Given the description of an element on the screen output the (x, y) to click on. 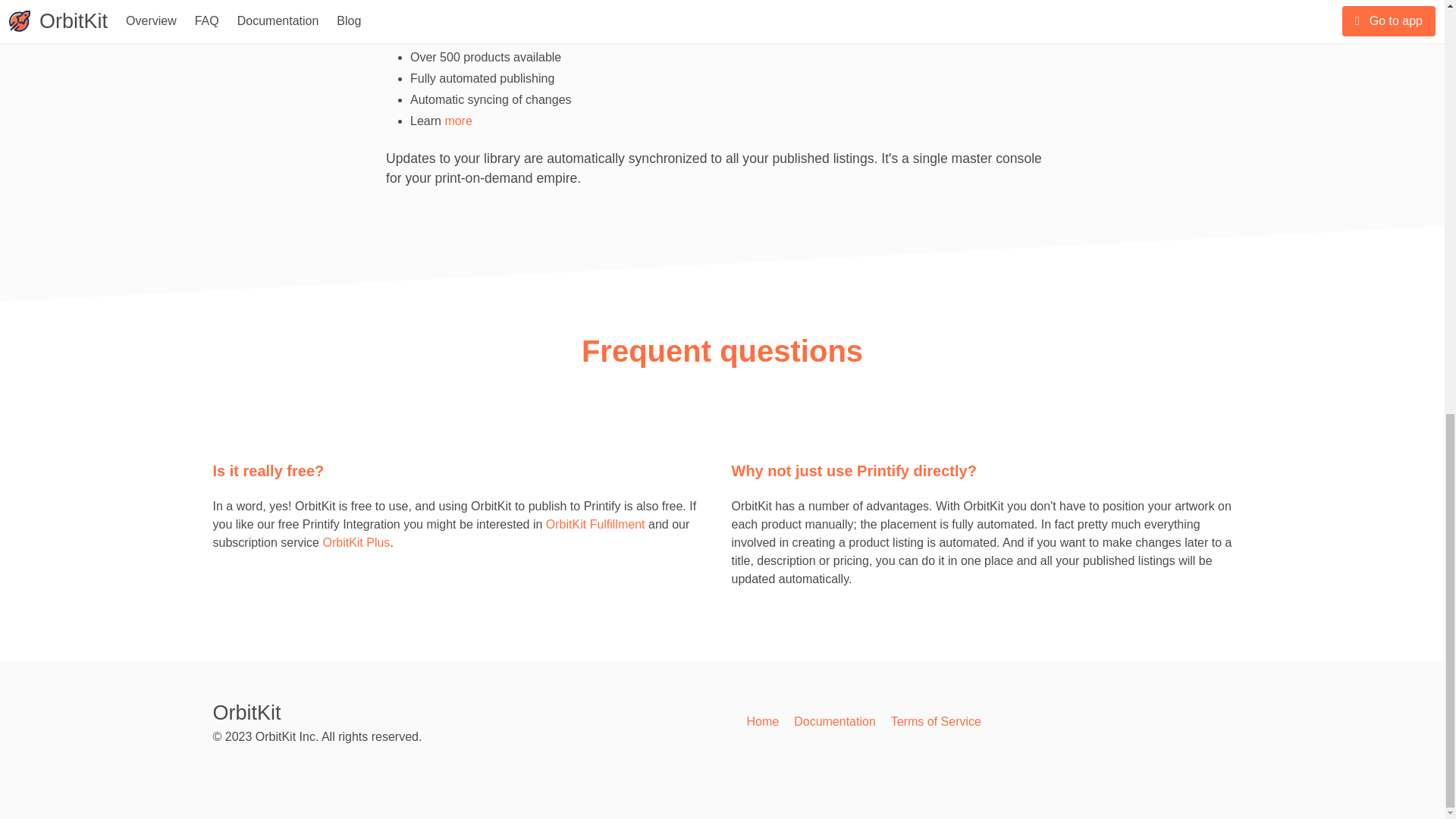
Documentation (834, 721)
Home (761, 721)
more (457, 120)
OrbitKit Plus (355, 542)
Terms of Service (936, 721)
OrbitKit Fulfillment (595, 523)
